Given the description of an element on the screen output the (x, y) to click on. 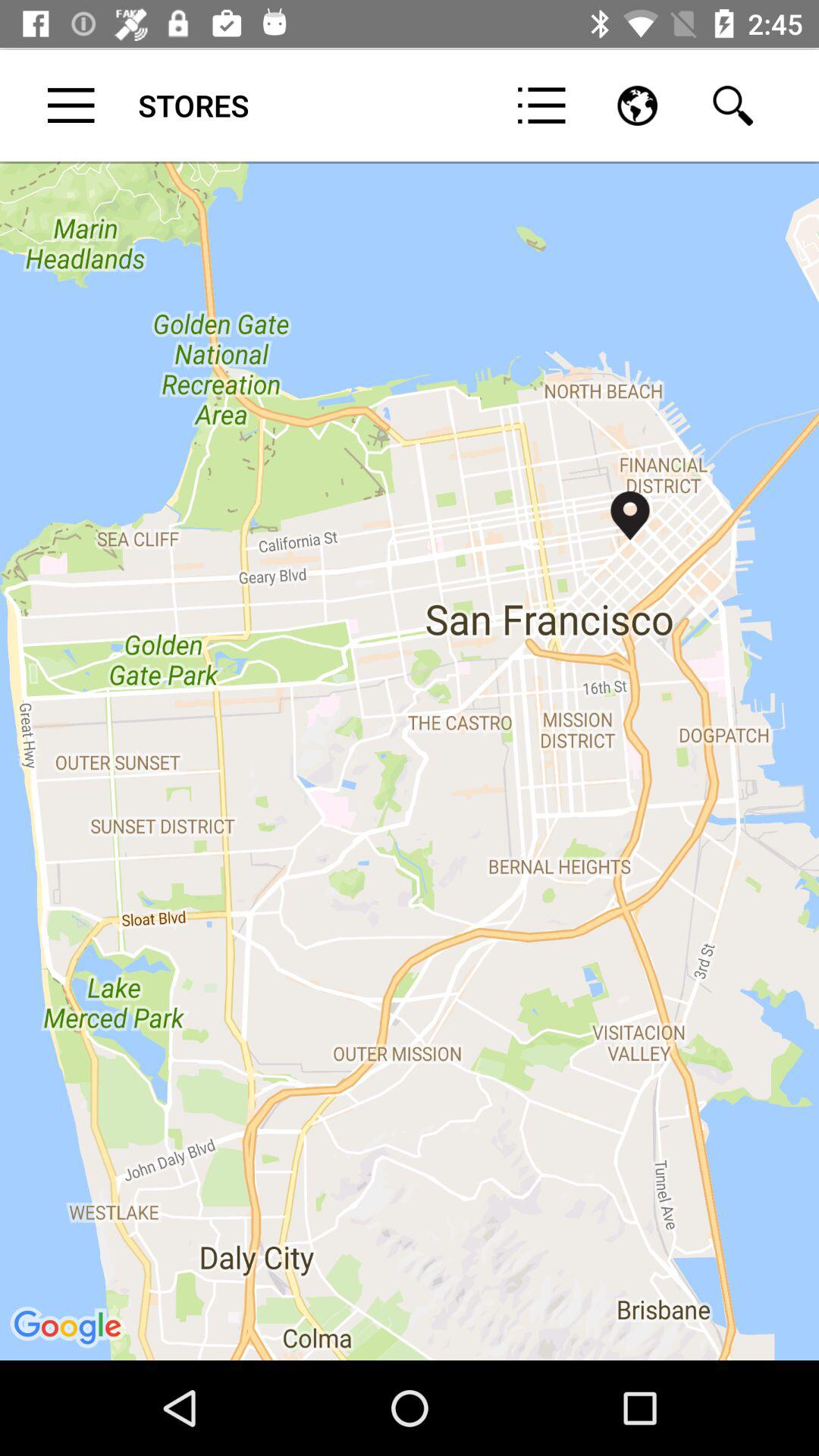
turn on item to the right of stores item (541, 105)
